Given the description of an element on the screen output the (x, y) to click on. 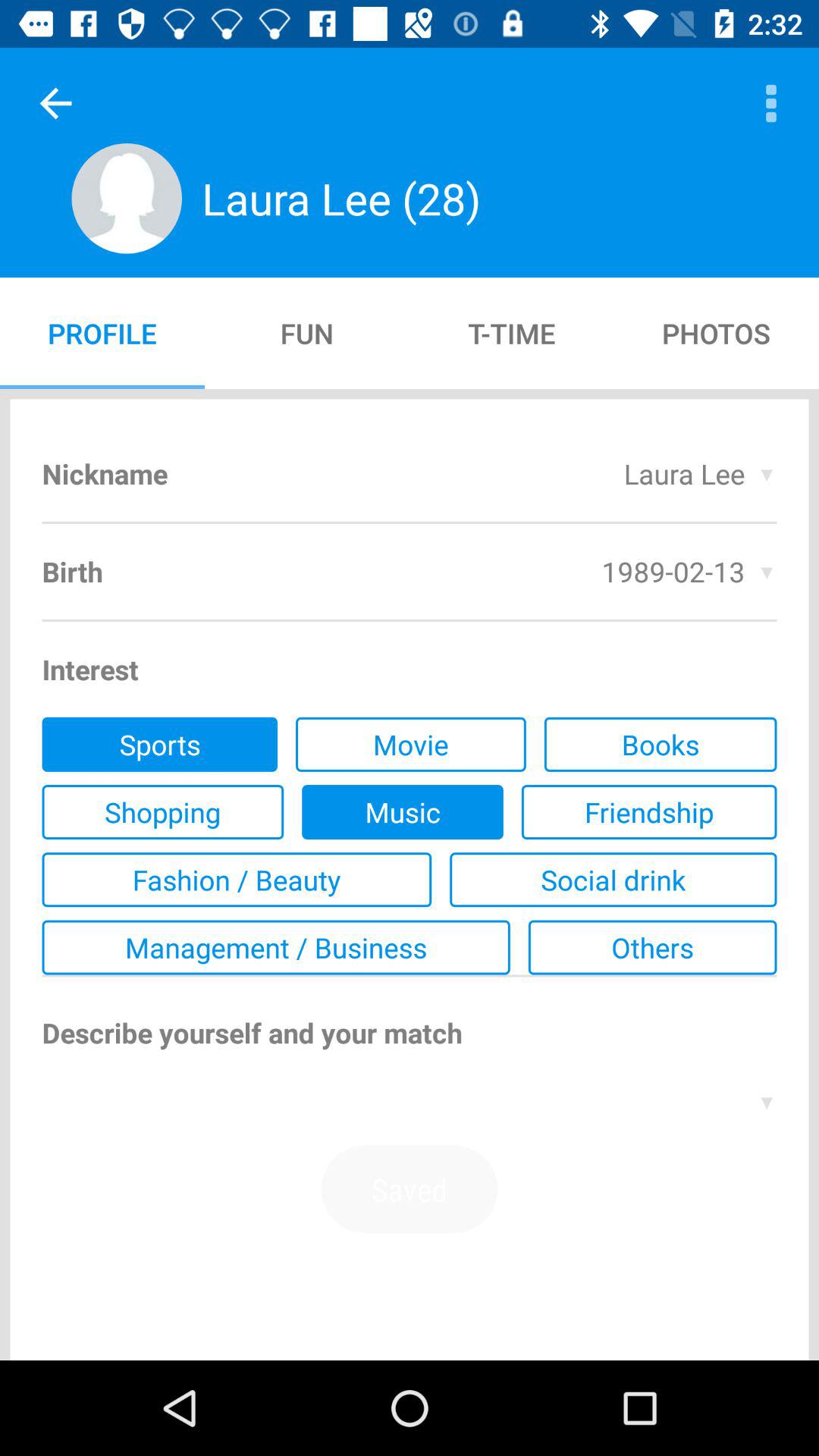
jump to the friendship item (648, 811)
